Given the description of an element on the screen output the (x, y) to click on. 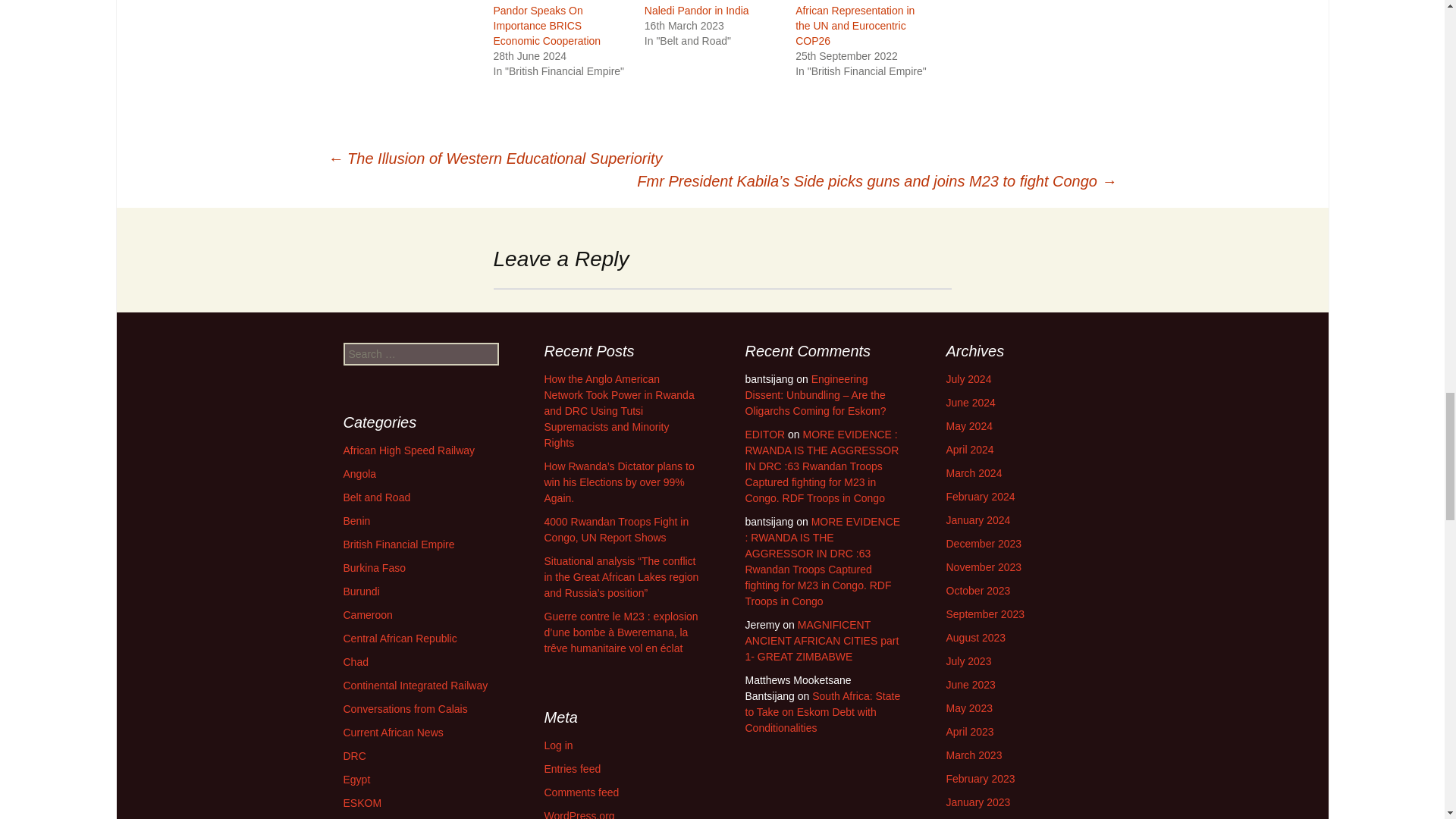
South African Minister Naledi Pandor in India (697, 8)
